Given the description of an element on the screen output the (x, y) to click on. 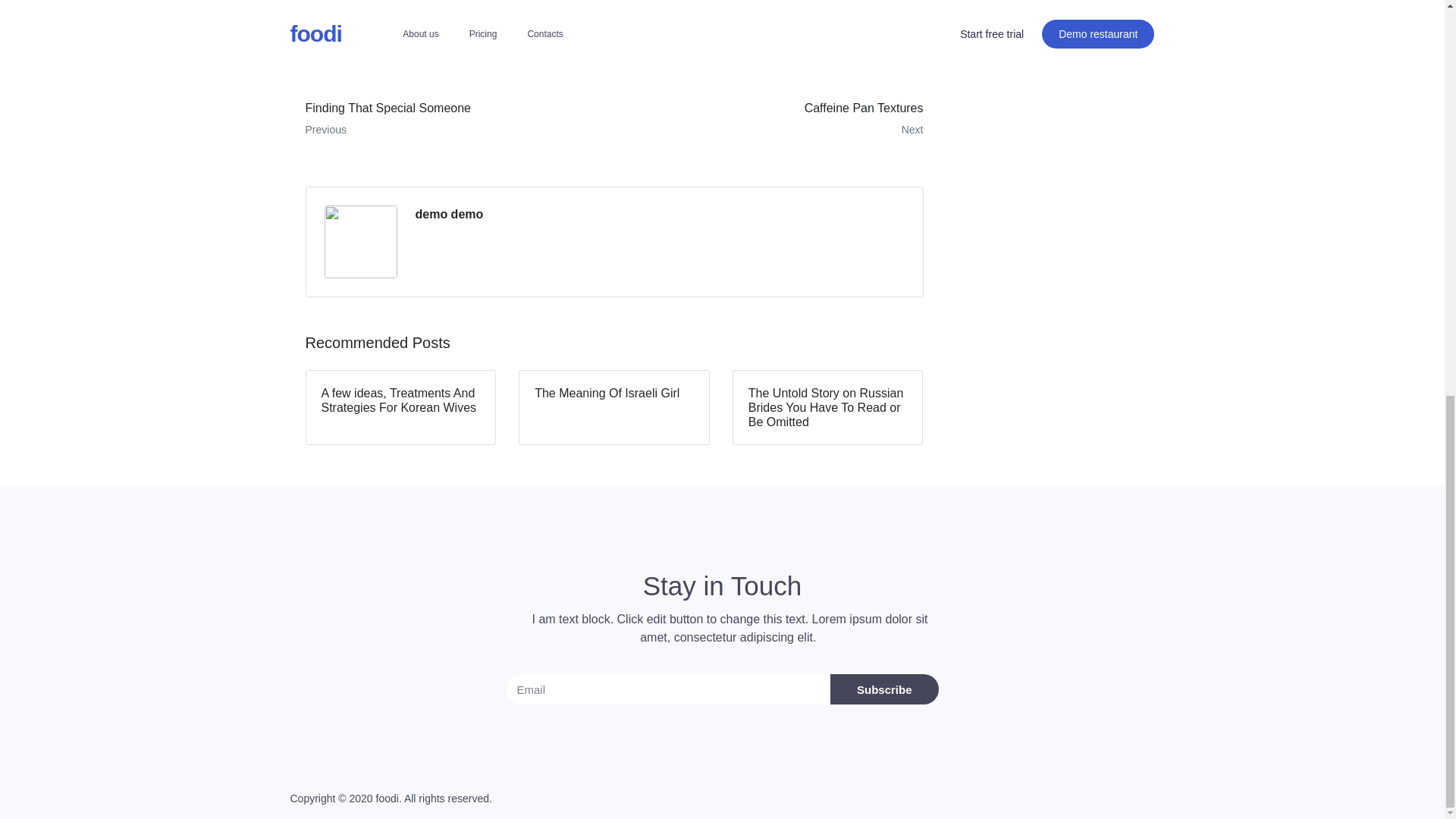
LinkedIn (526, 30)
Twitter (440, 30)
Finding That Special Someone (454, 118)
Caffeine Pan Textures (774, 118)
Facebook (350, 30)
Subscribe (884, 689)
The Meaning Of Israeli Girl (614, 407)
demo demo (774, 118)
A few ideas, Treatments And Strategies For Korean Wives (454, 118)
